Given the description of an element on the screen output the (x, y) to click on. 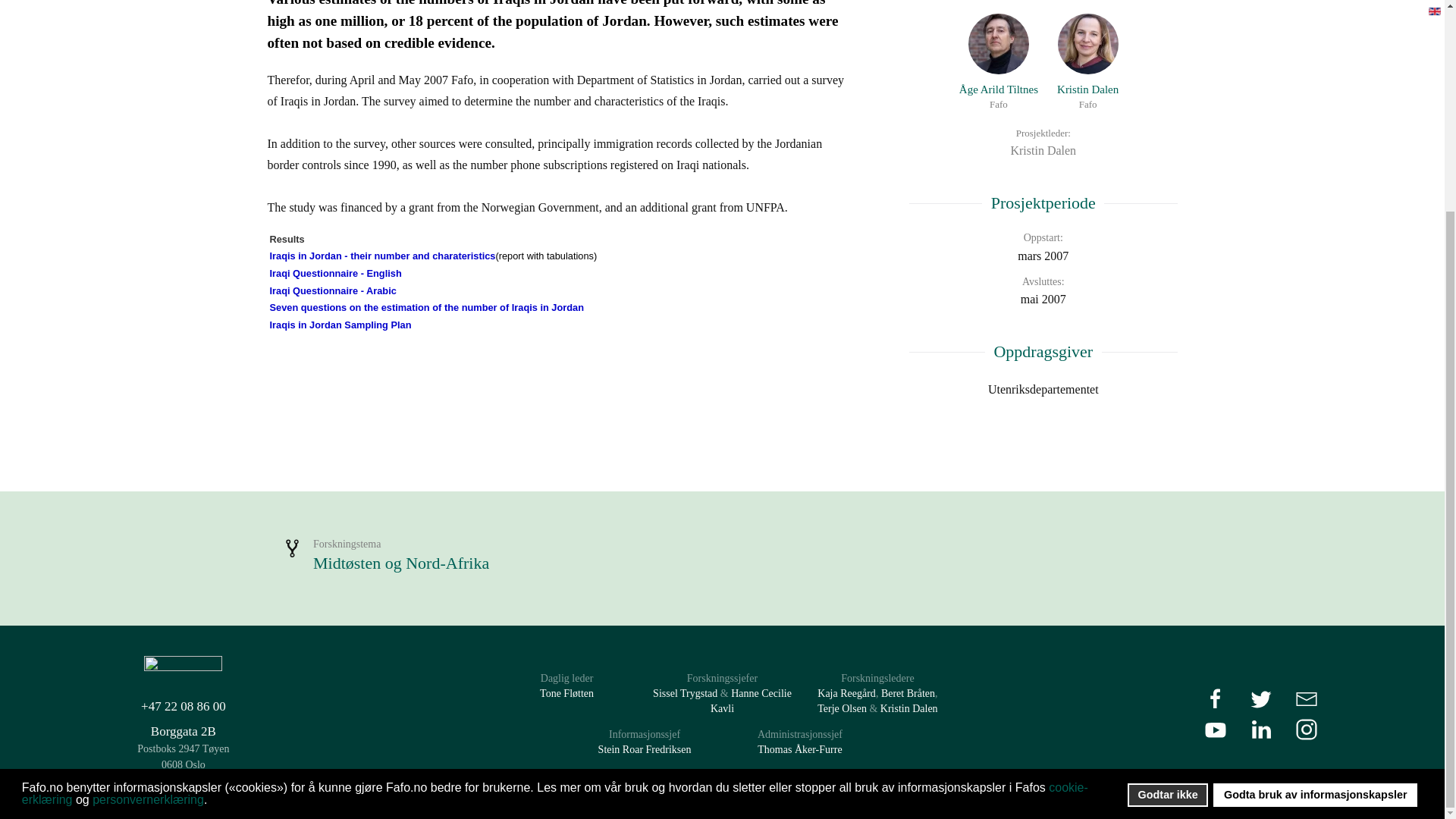
Iraqi Questionnaire - Arabic (1087, 62)
Iraqi Questionnaire - English (332, 290)
Iraqis in Jordan - their number and charateristics (335, 273)
Godta bruk av informasjonskapsler (382, 255)
Prosjektperiode (1314, 518)
Utenriksdepartementet (1042, 270)
Kristin Dalen (1042, 203)
Borggata 2B (1042, 389)
